Given the description of an element on the screen output the (x, y) to click on. 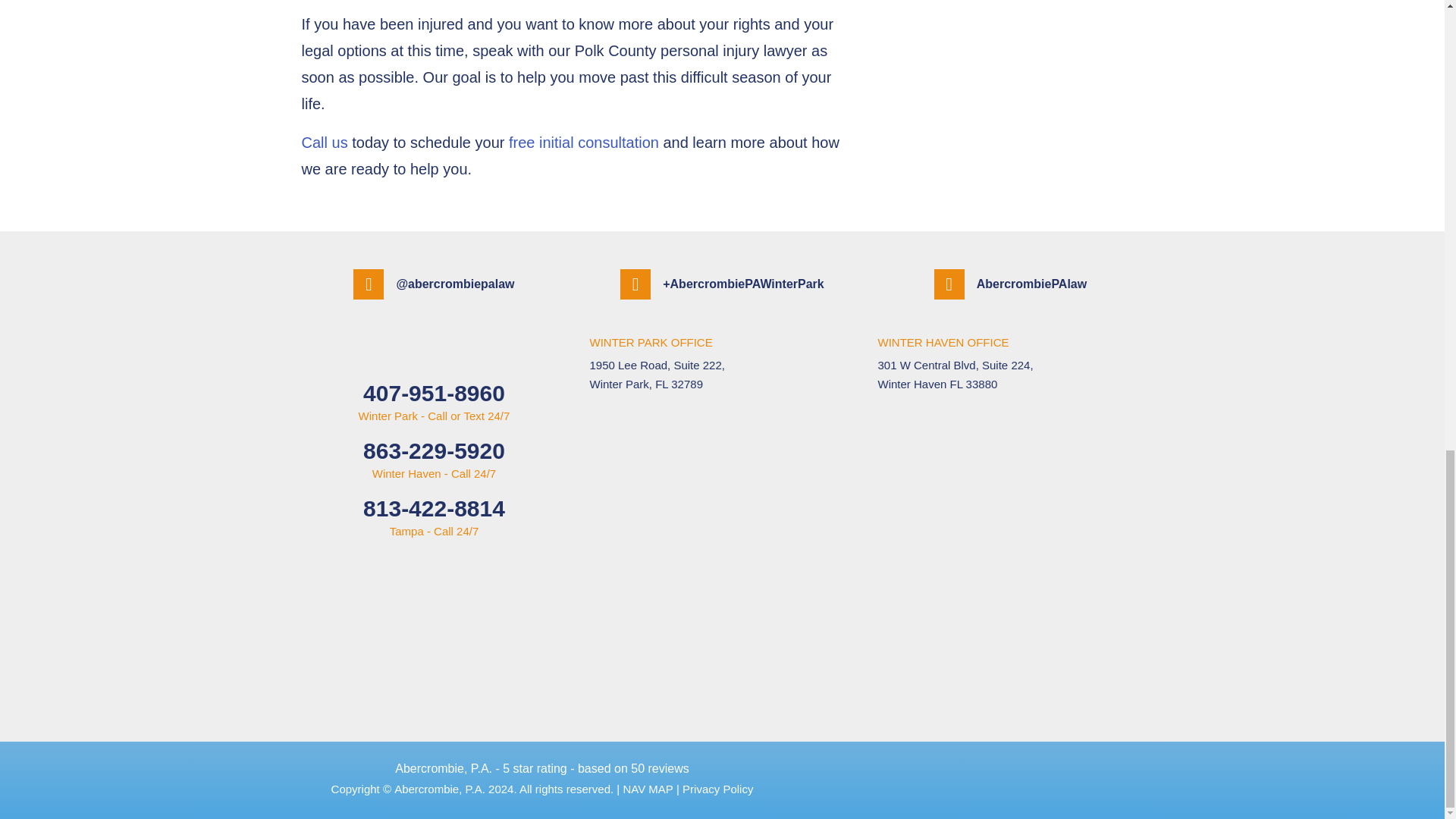
Contact Us (324, 142)
Free Consultation (583, 142)
